Given the description of an element on the screen output the (x, y) to click on. 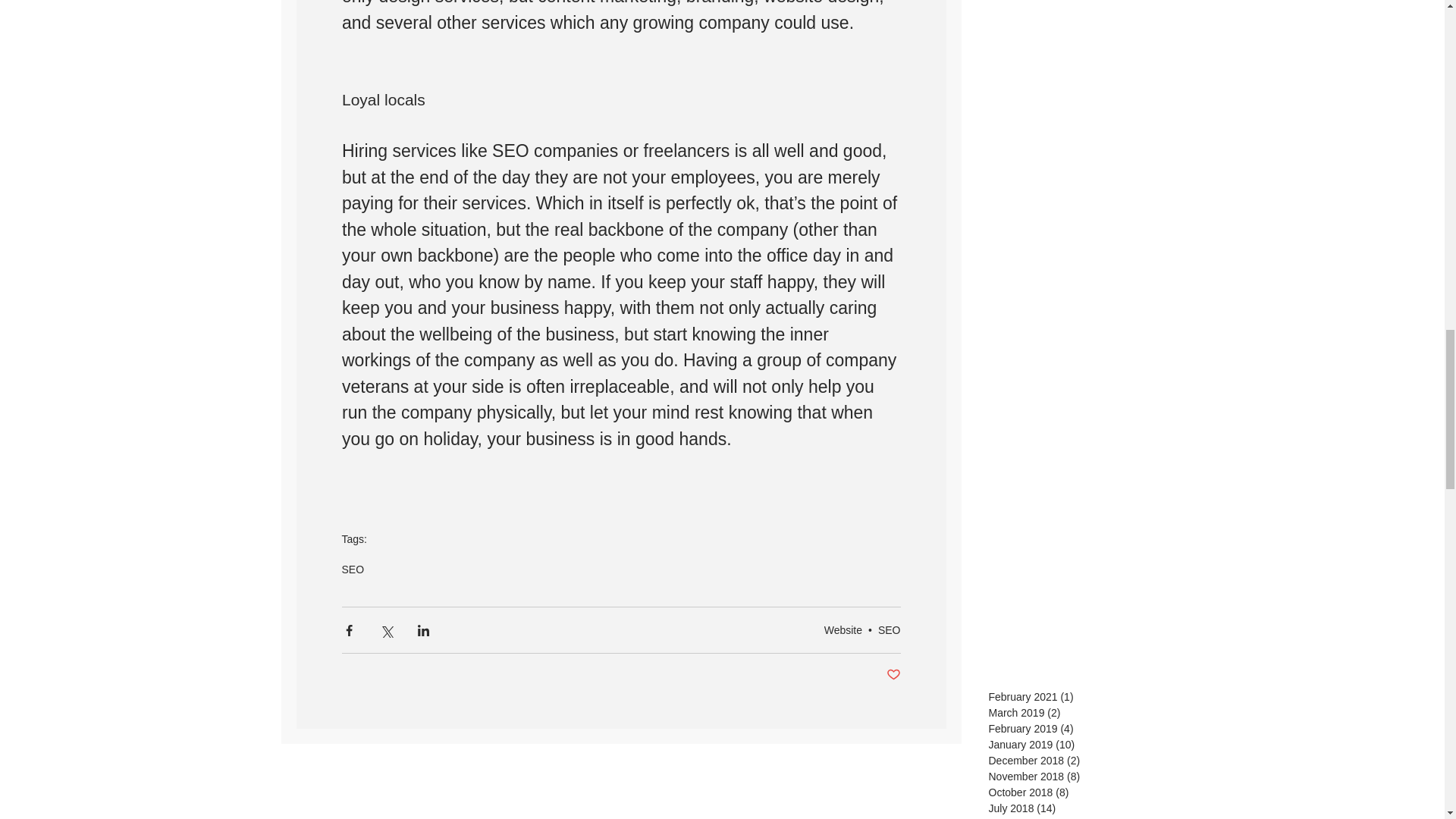
SEO (352, 569)
Post not marked as liked (892, 675)
Website (842, 630)
SEO (889, 630)
